Given the description of an element on the screen output the (x, y) to click on. 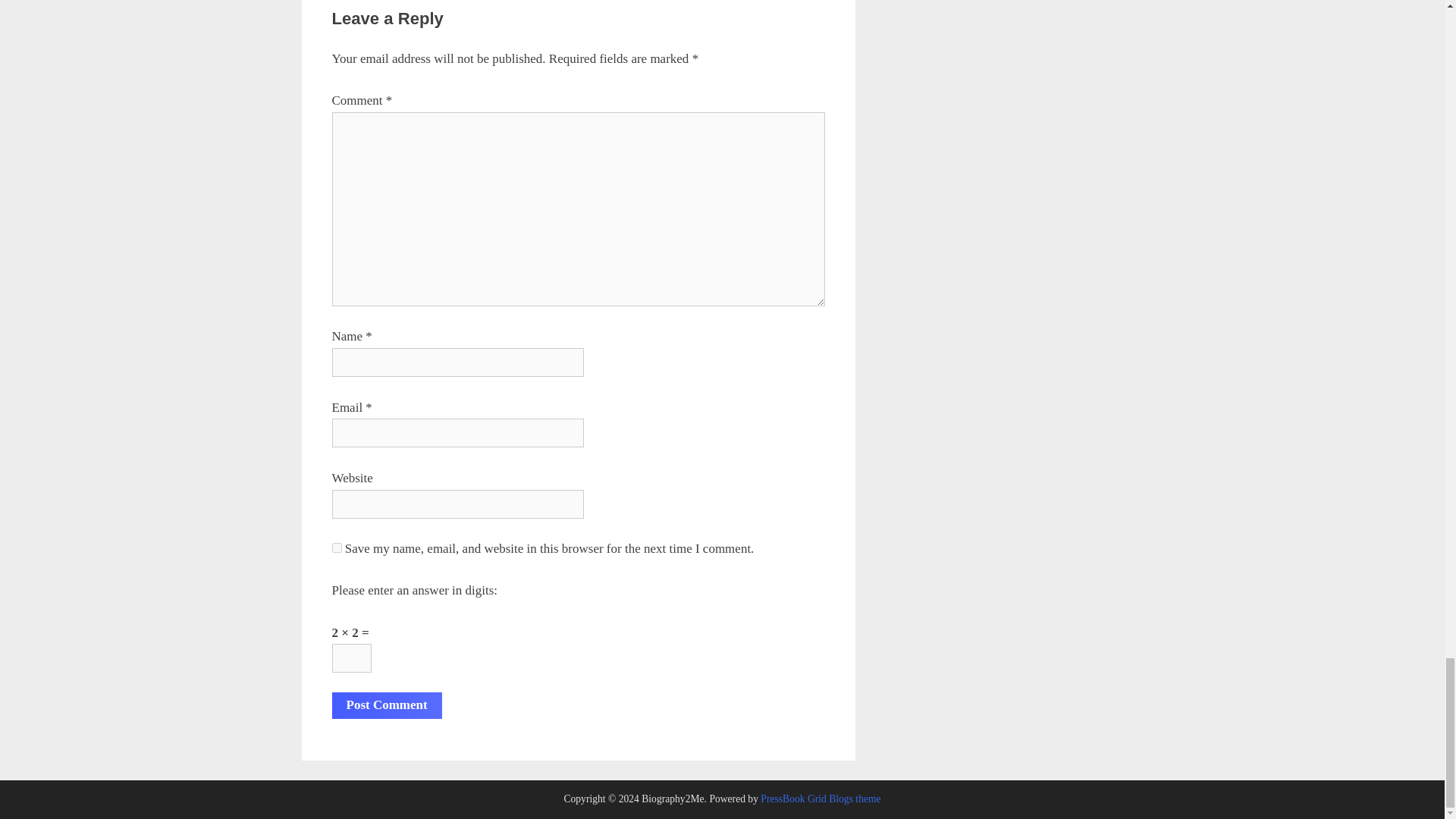
Post Comment (386, 705)
yes (336, 547)
